Given the description of an element on the screen output the (x, y) to click on. 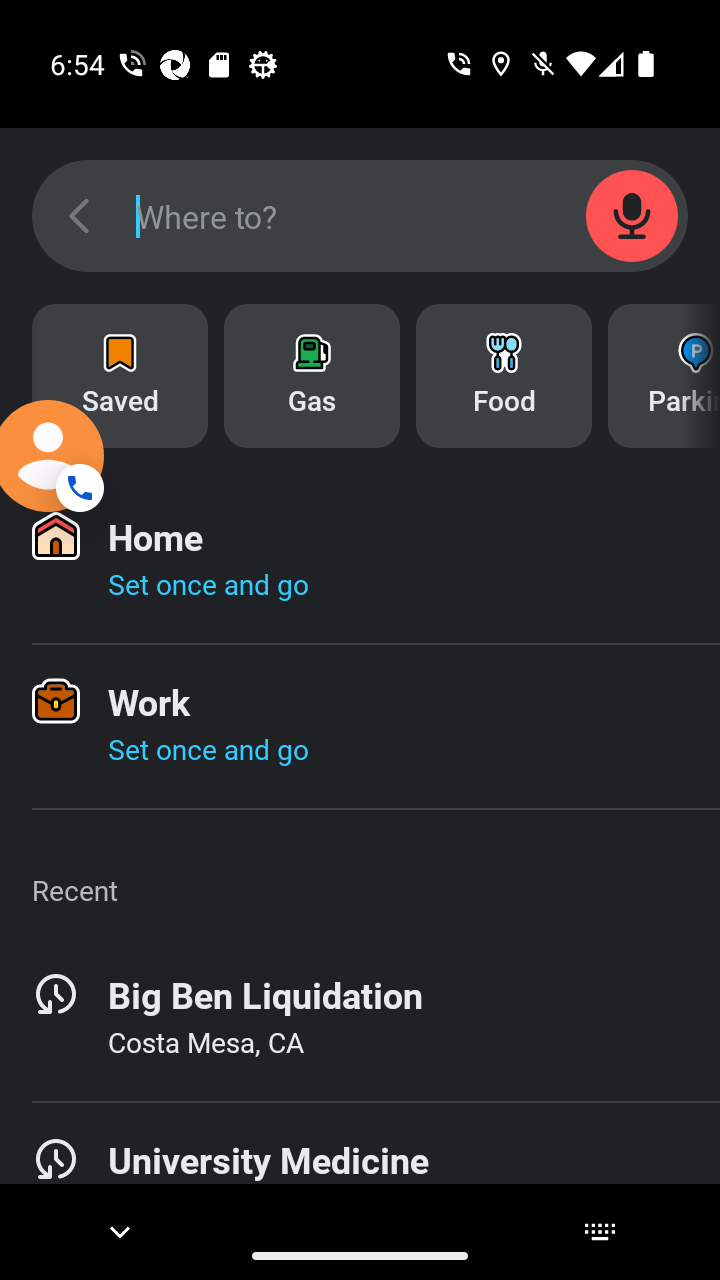
SEARCH_SCREEN_SEARCH_FIELD Where to? (359, 215)
Saved (119, 376)
Gas (311, 376)
Food (503, 376)
Parking (663, 376)
Home Set once and go (360, 561)
Work Set once and go (360, 726)
Big Ben Liquidation Costa Mesa, CA (360, 1019)
University Medicine (360, 1167)
